Given the description of an element on the screen output the (x, y) to click on. 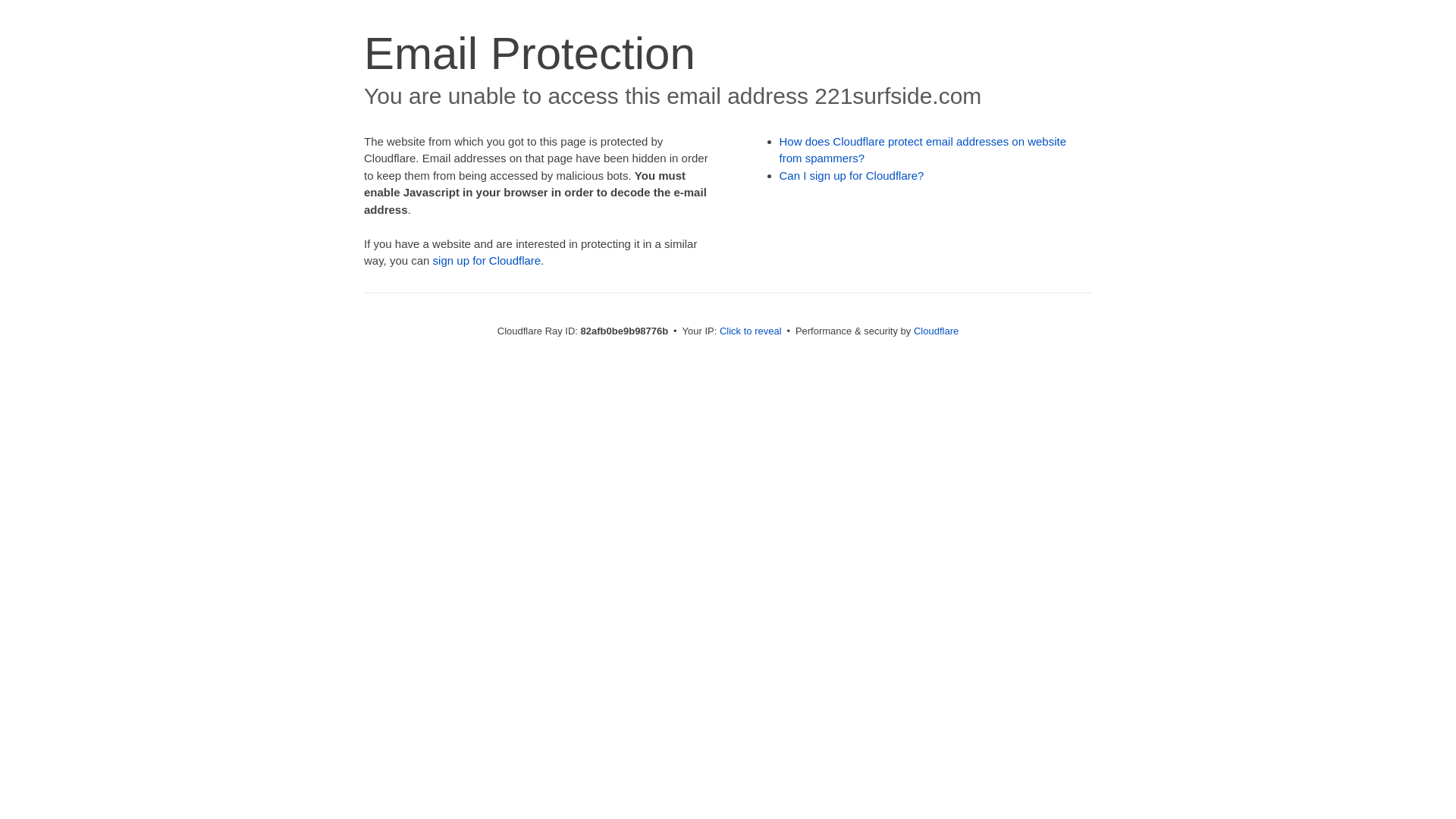
sign up for Cloudflare Element type: text (487, 260)
Click to reveal Element type: text (750, 330)
Can I sign up for Cloudflare? Element type: text (851, 175)
Cloudflare Element type: text (935, 330)
